Given the description of an element on the screen output the (x, y) to click on. 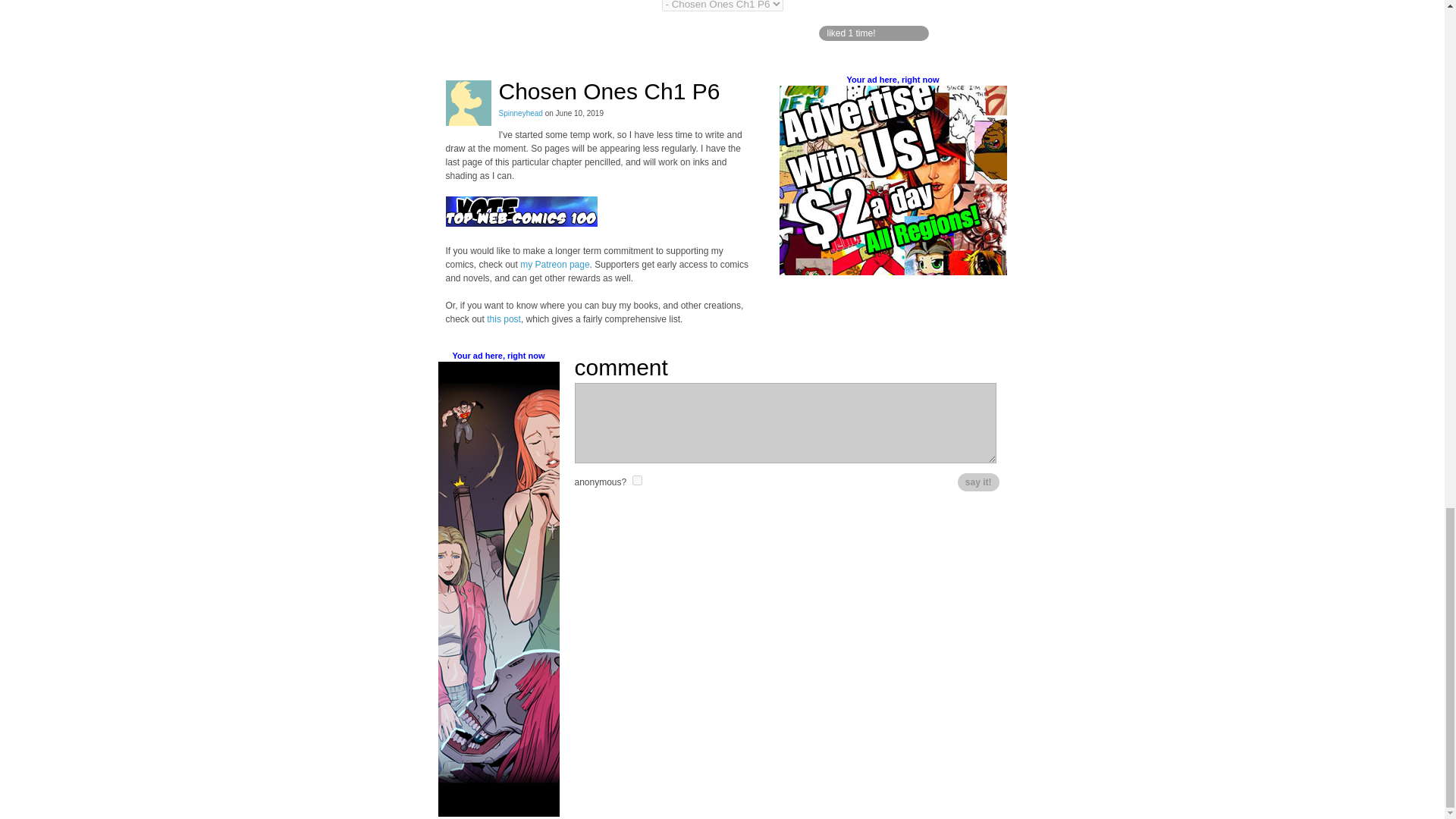
Spinneyhead (521, 112)
Your ad here, right now (892, 79)
Your ad here, right now (497, 355)
say it! (978, 482)
say it! (978, 482)
my Patreon page (554, 264)
1 (636, 480)
this post (503, 318)
